Given the description of an element on the screen output the (x, y) to click on. 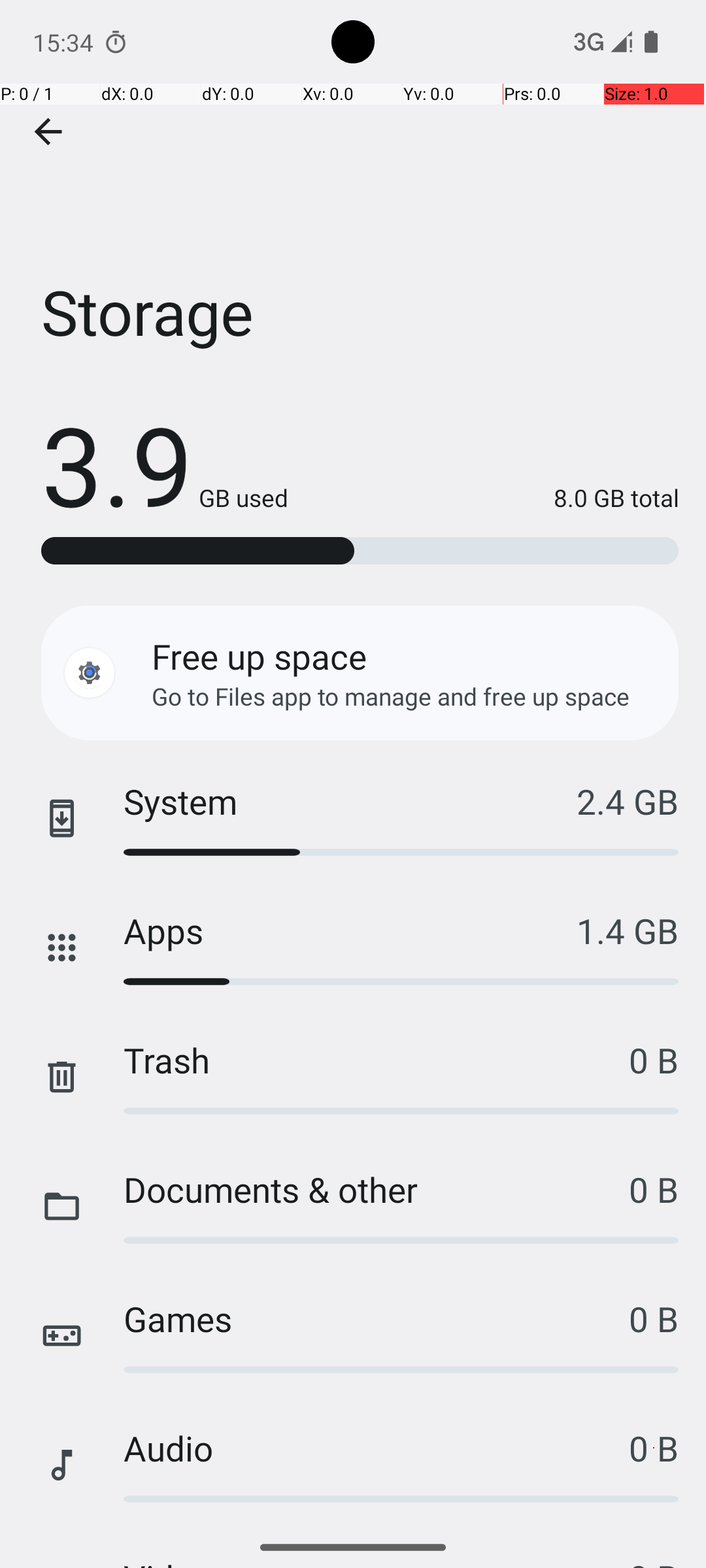
3.9 GB used Element type: android.widget.TextView (164, 463)
2.4 GB Element type: android.widget.TextView (627, 801)
